Given the description of an element on the screen output the (x, y) to click on. 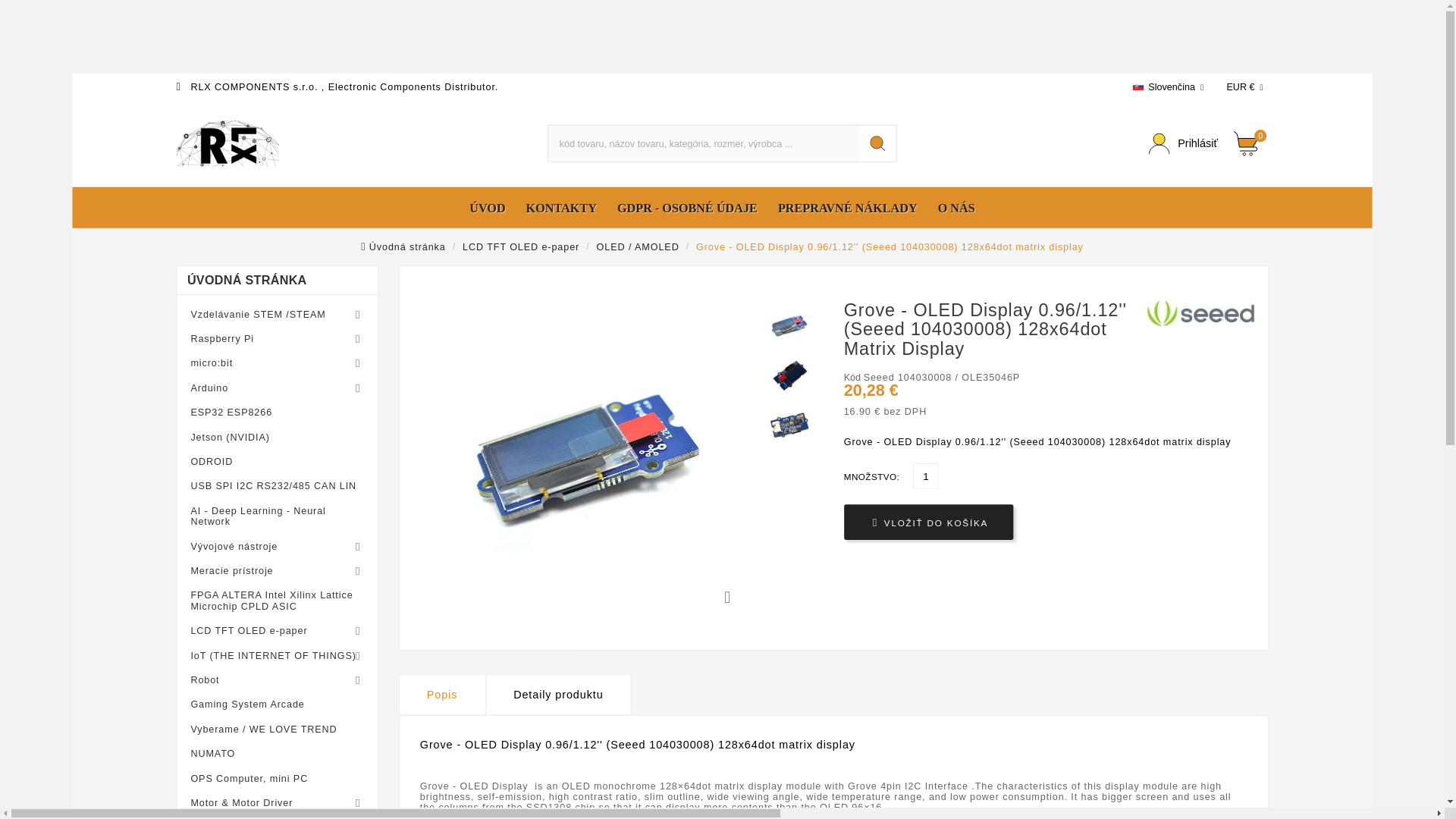
KONTAKTY (566, 208)
0 (1252, 144)
LCD TFT OLED e-paper (527, 246)
Raspberry Pi (286, 338)
1 (926, 478)
Seeed Studio (1206, 314)
